Given the description of an element on the screen output the (x, y) to click on. 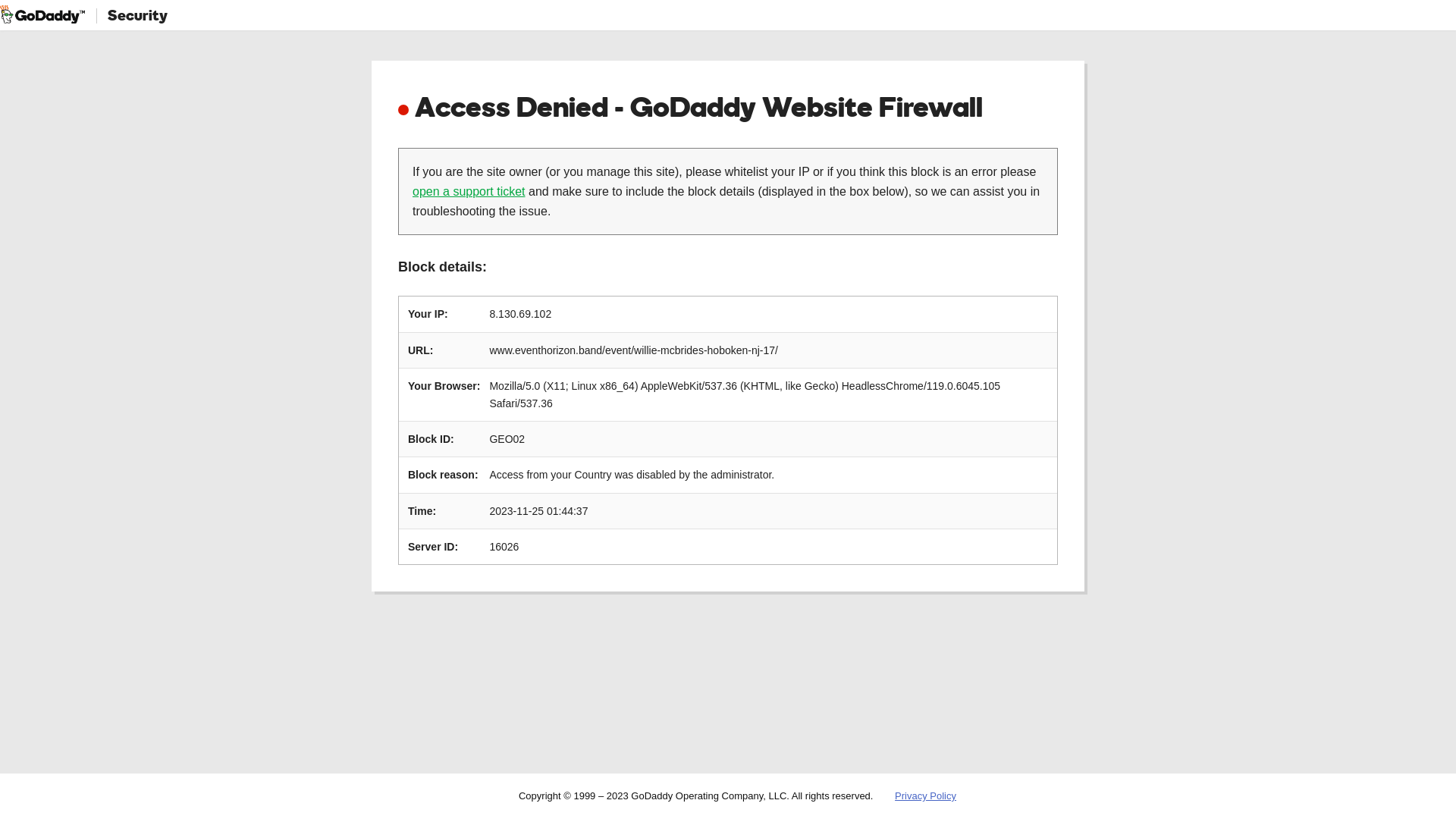
open a support ticket Element type: text (468, 191)
Privacy Policy Element type: text (925, 795)
